Given the description of an element on the screen output the (x, y) to click on. 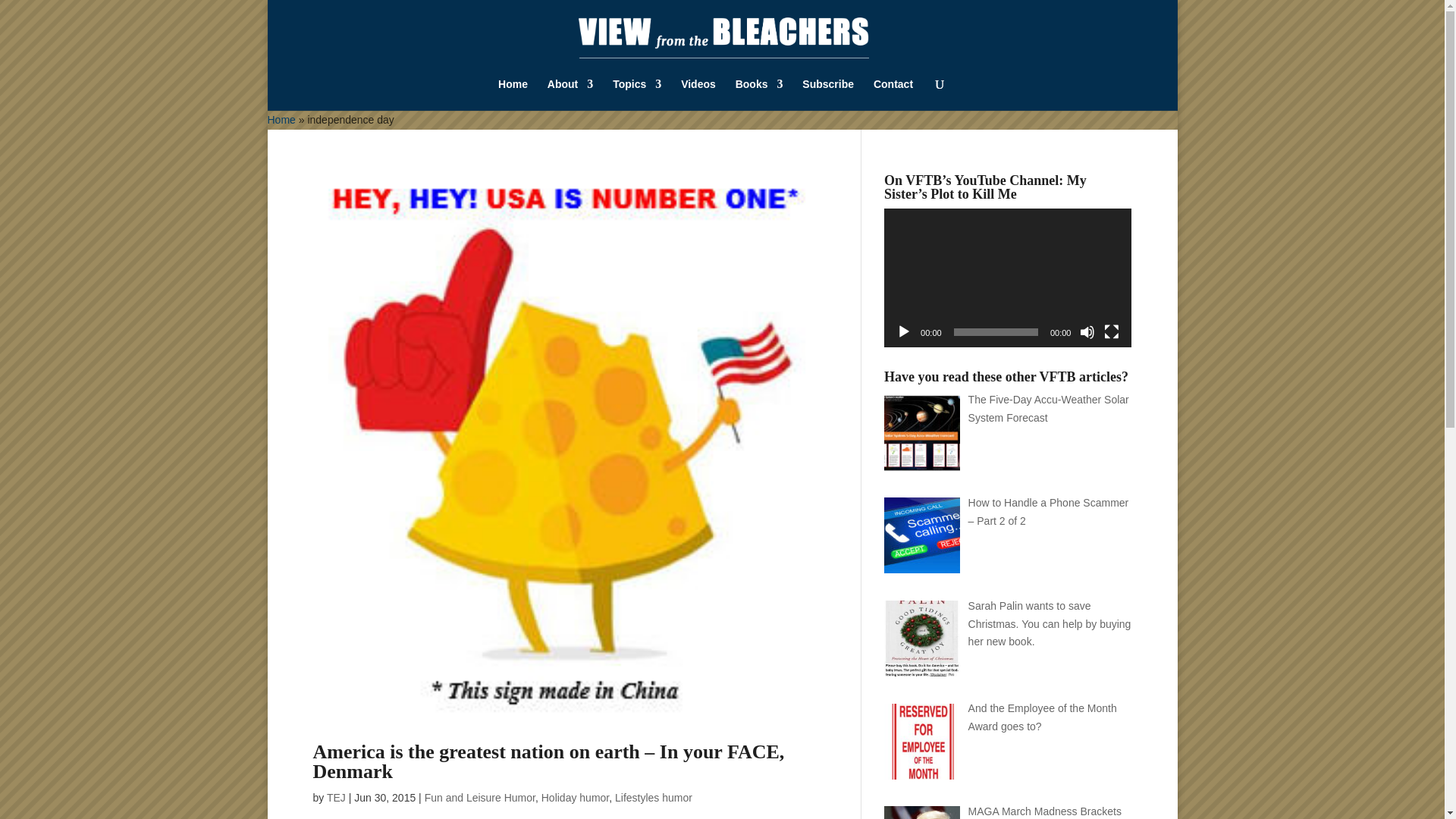
Contact (892, 94)
Subscribe (827, 94)
Fun and Leisure Humor (480, 797)
Books (759, 94)
Mute (1087, 331)
Videos (698, 94)
Fullscreen (1111, 331)
TEJ (336, 797)
About (569, 94)
Home (280, 119)
Lifestyles humor (653, 797)
Play (903, 331)
Posts by TEJ (336, 797)
Topics (636, 94)
Holiday humor (575, 797)
